Given the description of an element on the screen output the (x, y) to click on. 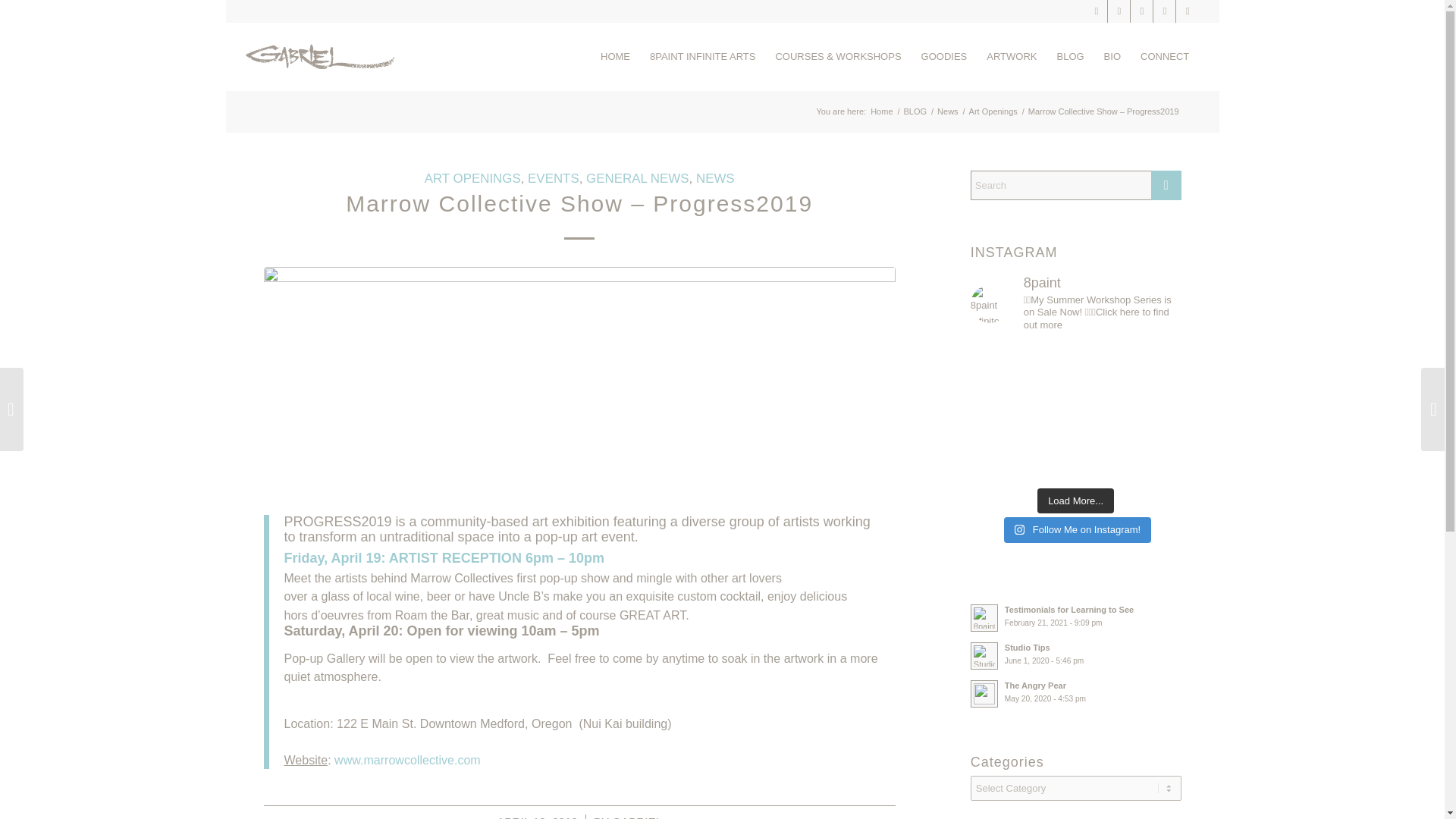
Transform YOUR art! (702, 56)
8PAINT INFINITE ARTS (702, 56)
Art of Gabriel (320, 56)
ART OPENINGS (473, 178)
GOODIES (943, 56)
News (947, 111)
Home (881, 111)
BLOG (914, 111)
